Given the description of an element on the screen output the (x, y) to click on. 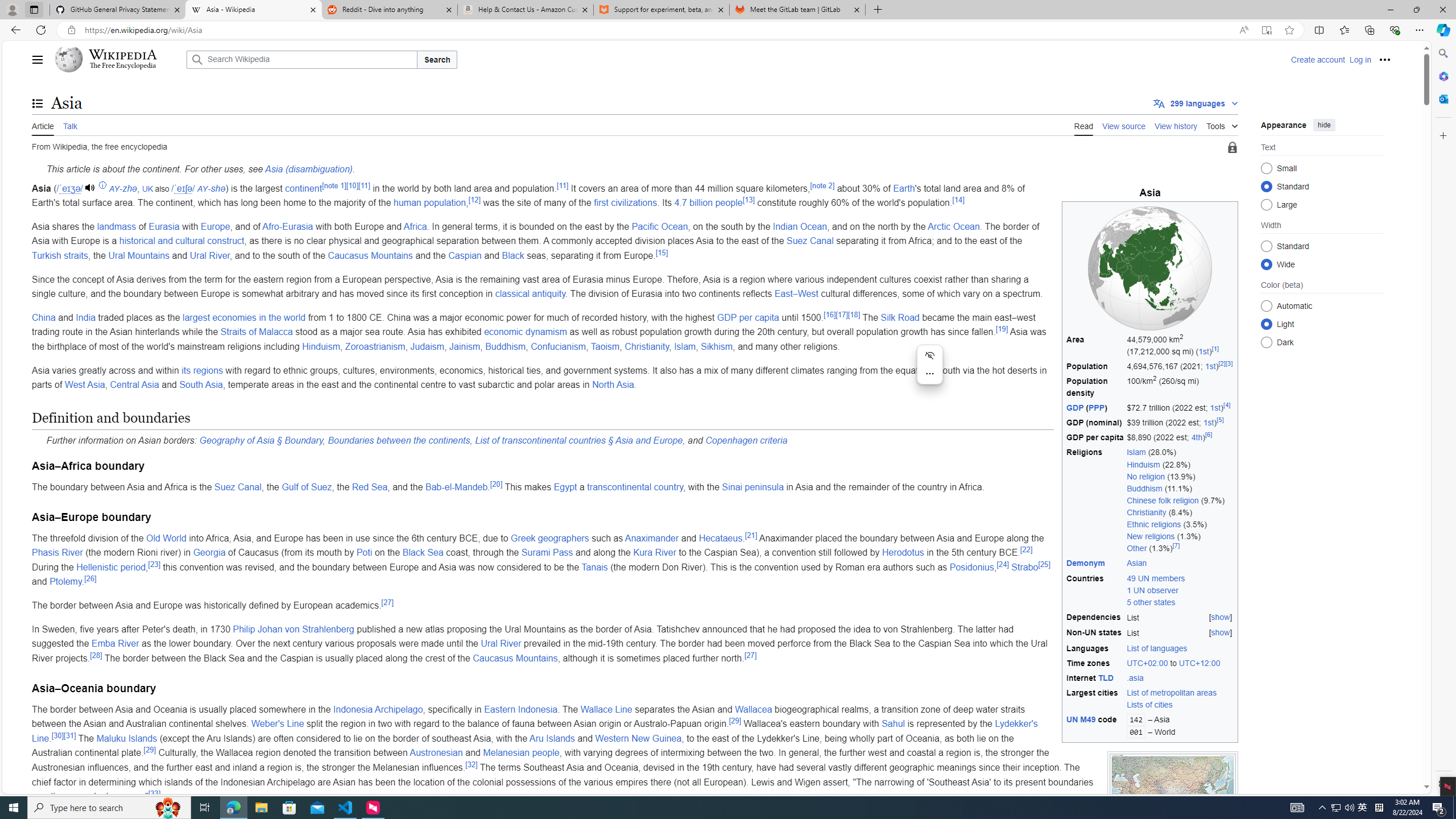
[note 1] (333, 185)
its regions (203, 370)
Europe (215, 226)
Personal tools (1384, 59)
Herodotus (903, 552)
GDP (1074, 407)
Posidonius (971, 566)
Philip Johan von Strahlenberg (292, 628)
Sinai peninsula (753, 486)
Sahul (892, 723)
economic dynamism (524, 331)
Tools (1222, 124)
Black Sea (422, 552)
